Given the description of an element on the screen output the (x, y) to click on. 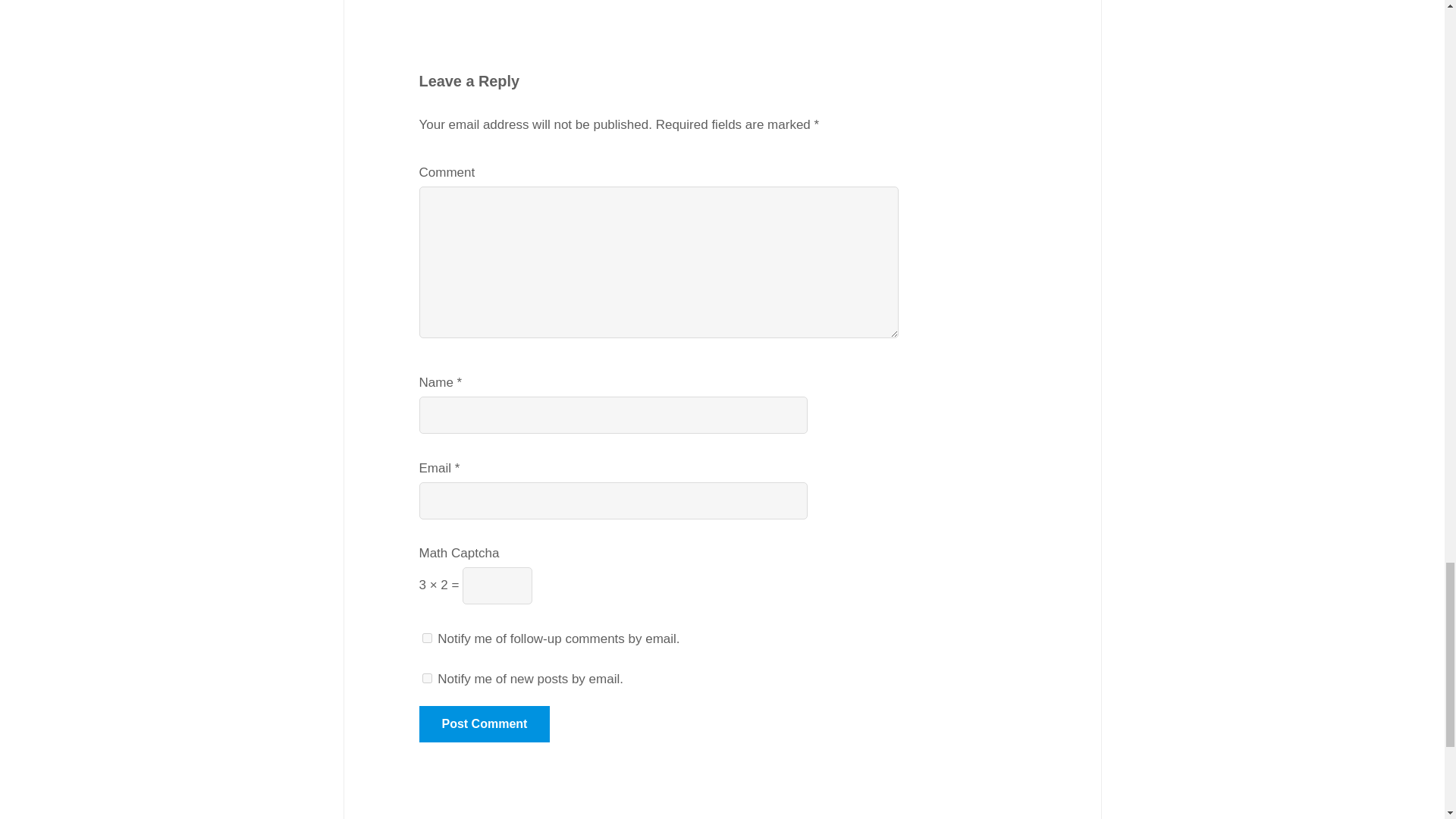
subscribe (426, 678)
Post Comment (484, 723)
subscribe (426, 637)
Post Comment (484, 723)
